Given the description of an element on the screen output the (x, y) to click on. 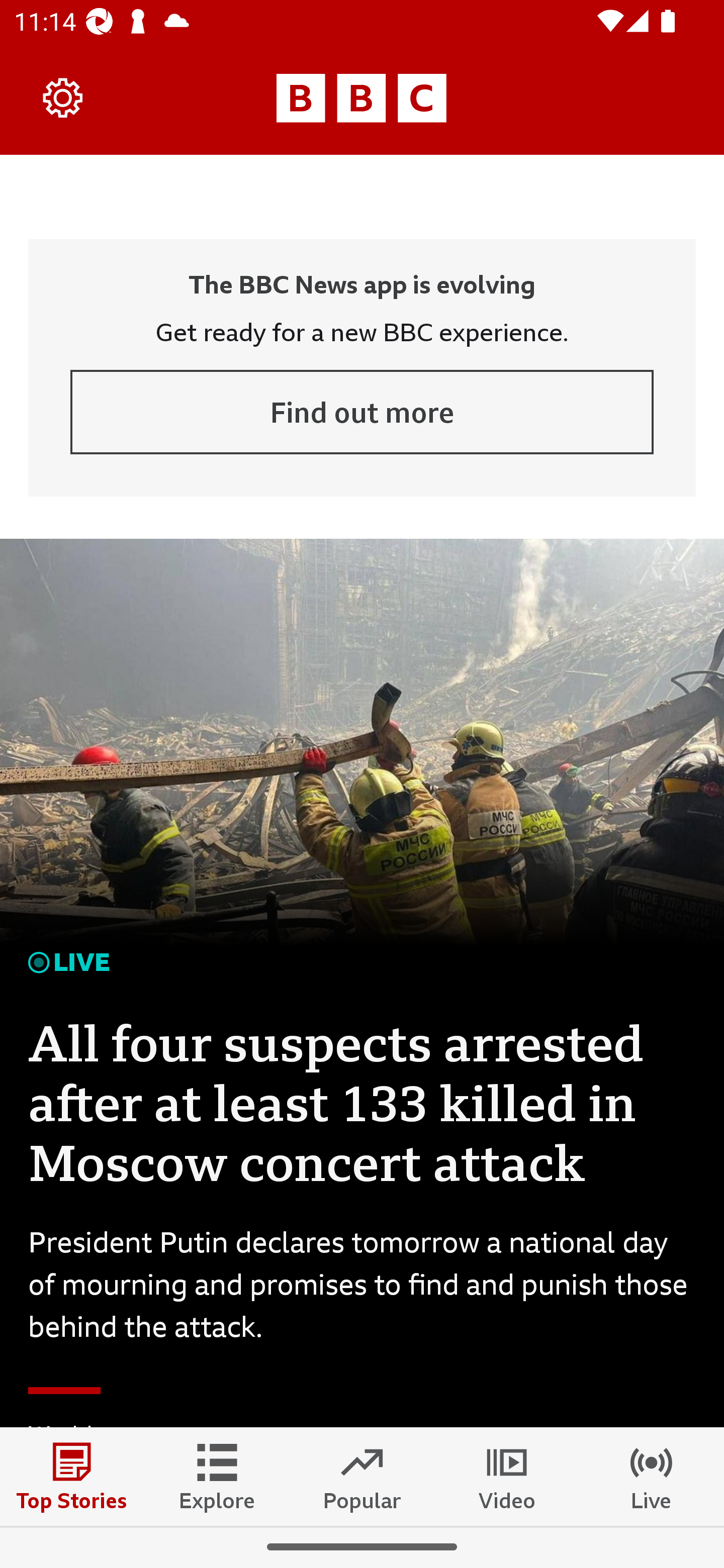
Settings (63, 97)
Find out more (361, 412)
Explore (216, 1475)
Popular (361, 1475)
Video (506, 1475)
Live (651, 1475)
